Given the description of an element on the screen output the (x, y) to click on. 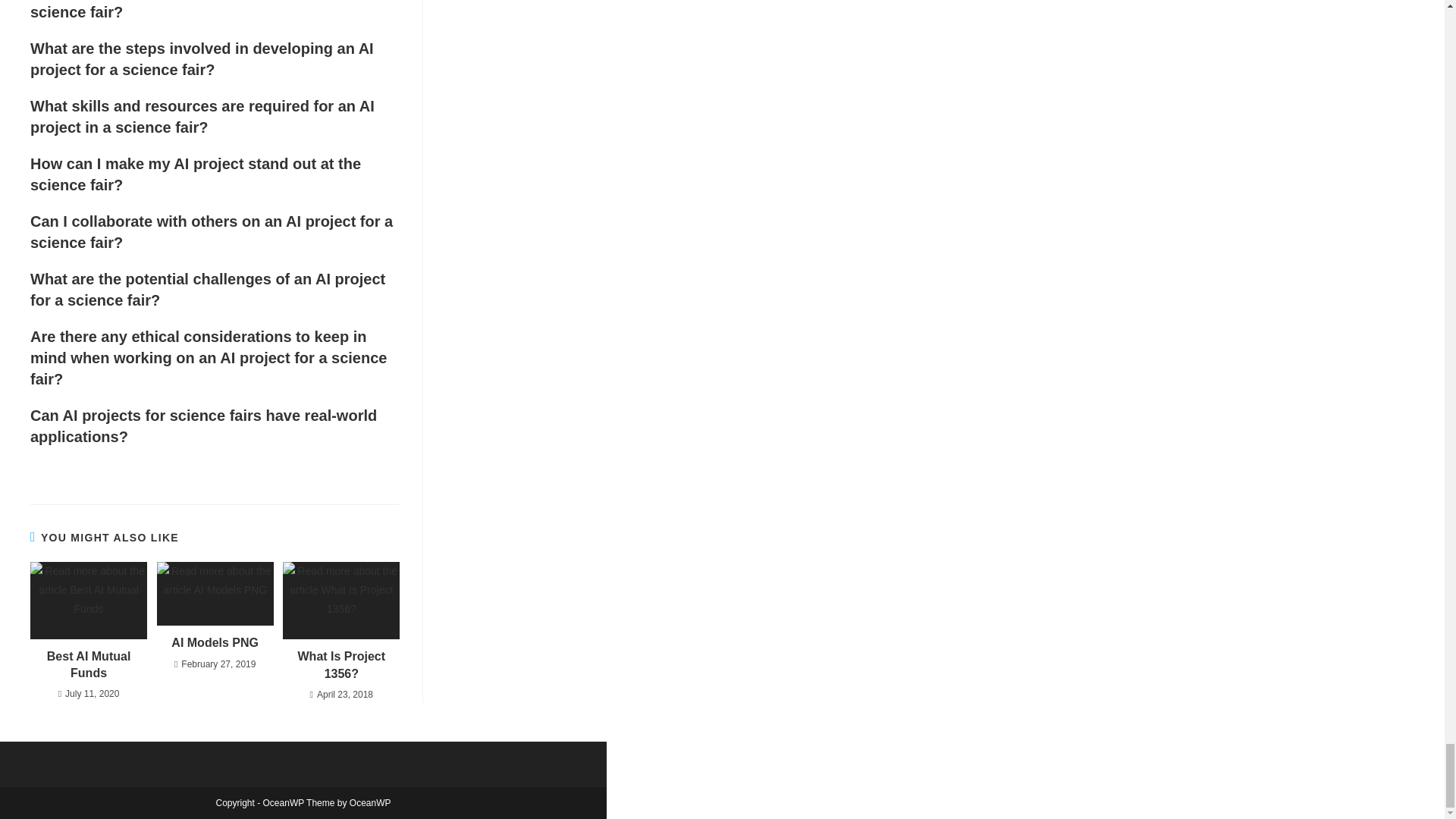
AI Models PNG (214, 642)
Best AI Mutual Funds (88, 665)
What Is Project 1356? (341, 665)
